Given the description of an element on the screen output the (x, y) to click on. 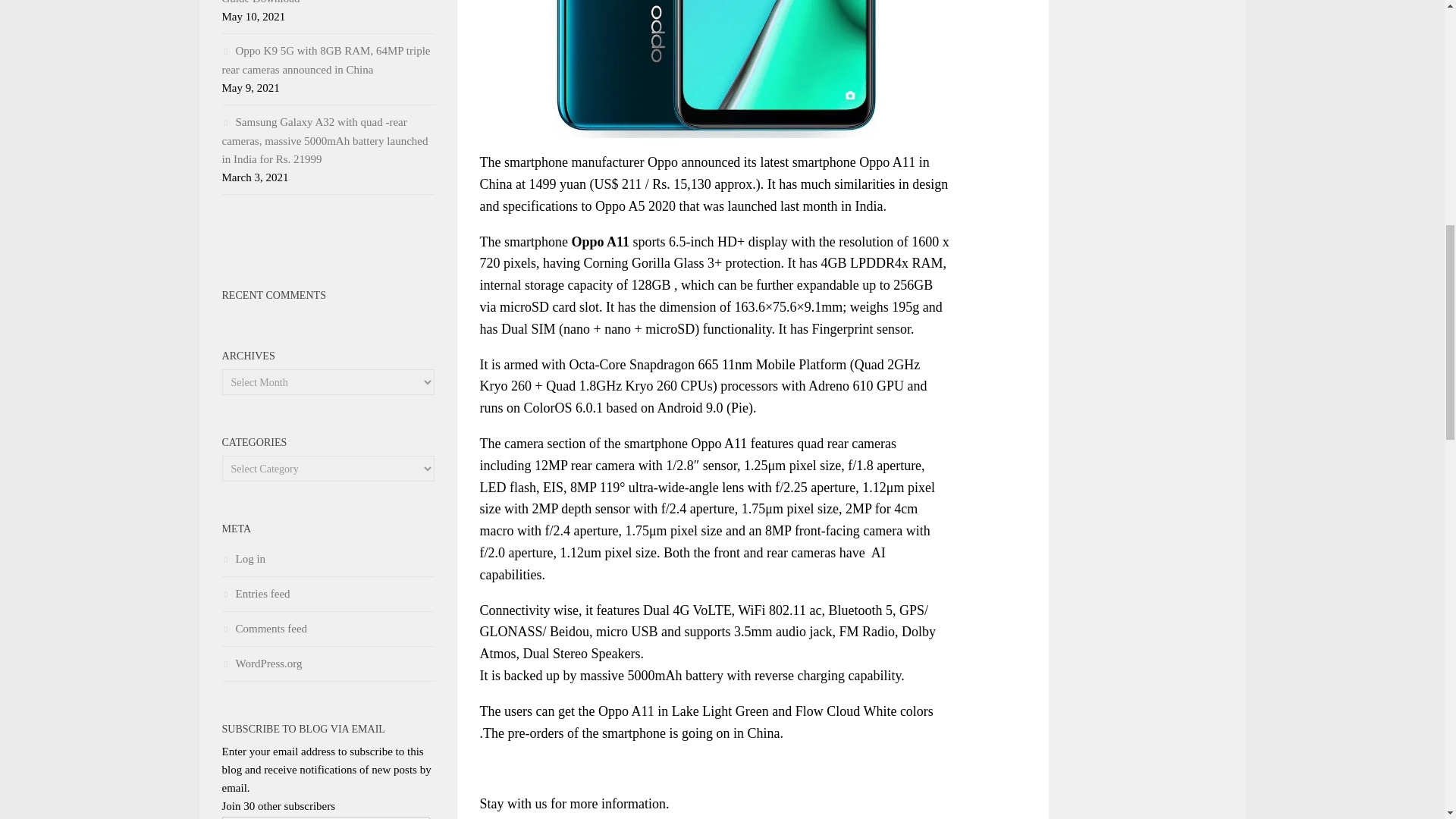
Samsung Galaxy A72 User Manual PDF Guide Download (320, 2)
Log in (242, 558)
